Given the description of an element on the screen output the (x, y) to click on. 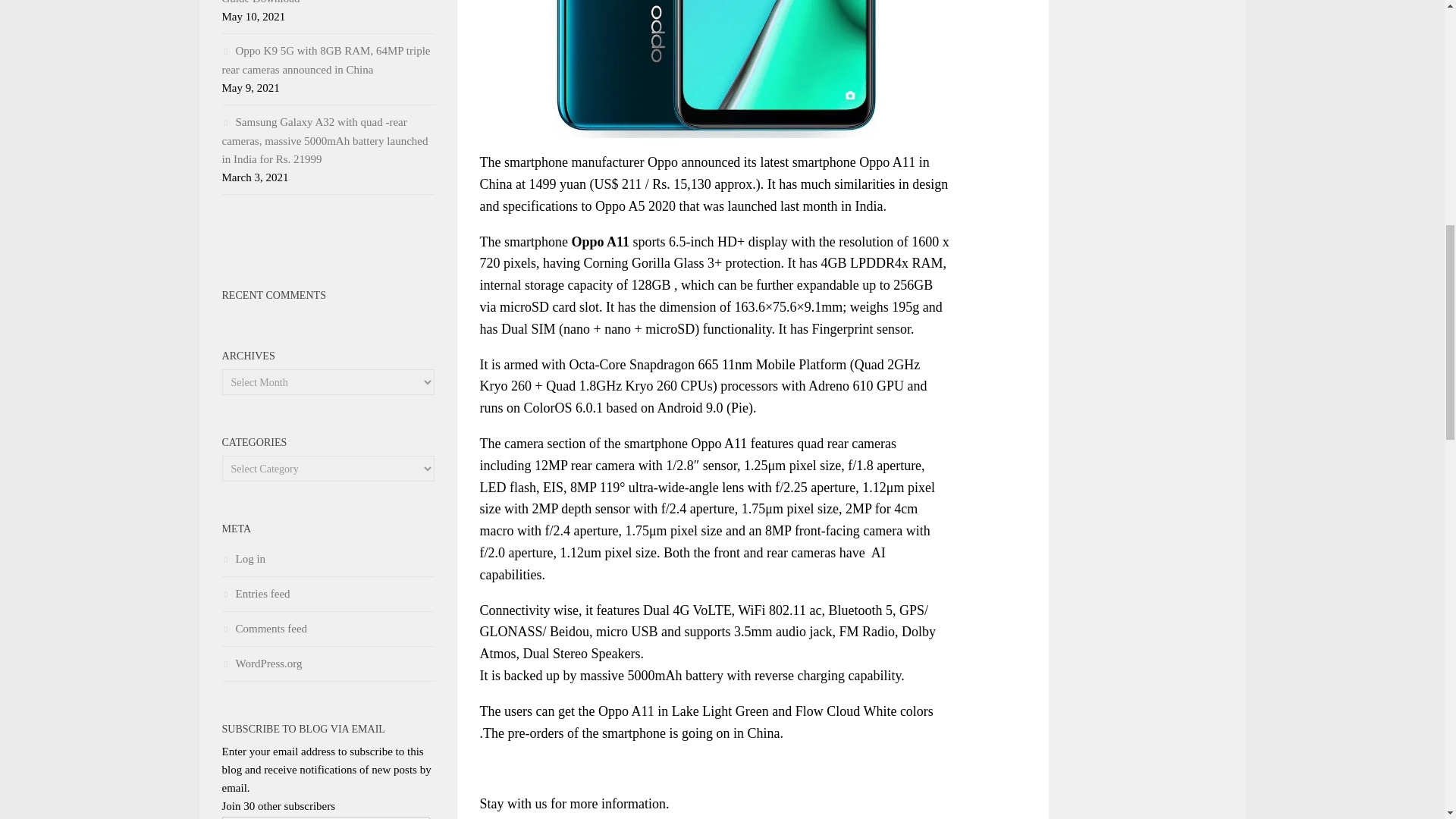
Samsung Galaxy A72 User Manual PDF Guide Download (320, 2)
Log in (242, 558)
